Given the description of an element on the screen output the (x, y) to click on. 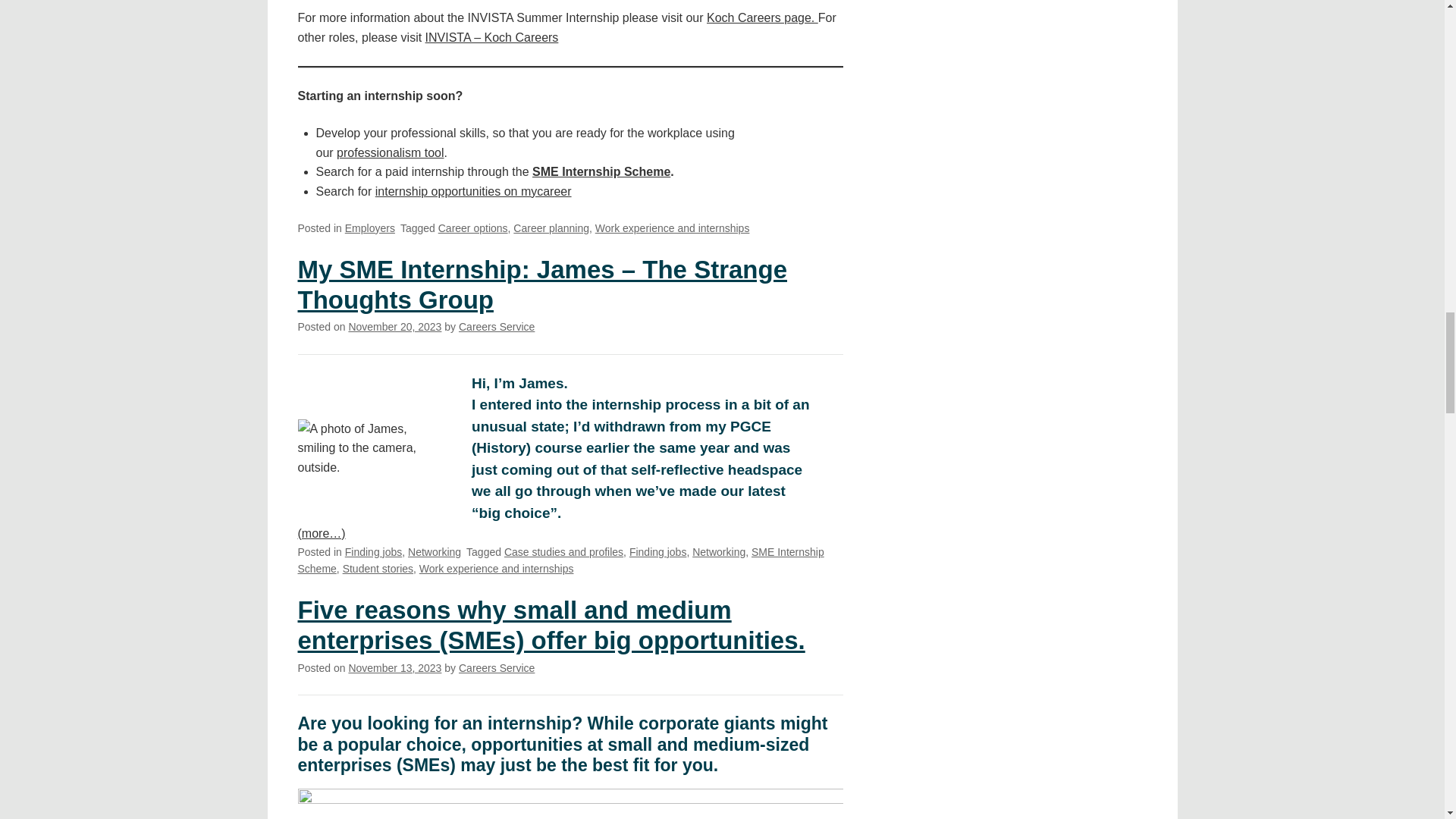
SME Internship Scheme (600, 171)
Koch Careers page. (762, 17)
professionalism tool (390, 152)
internship opportunities on mycareer (473, 191)
